Given the description of an element on the screen output the (x, y) to click on. 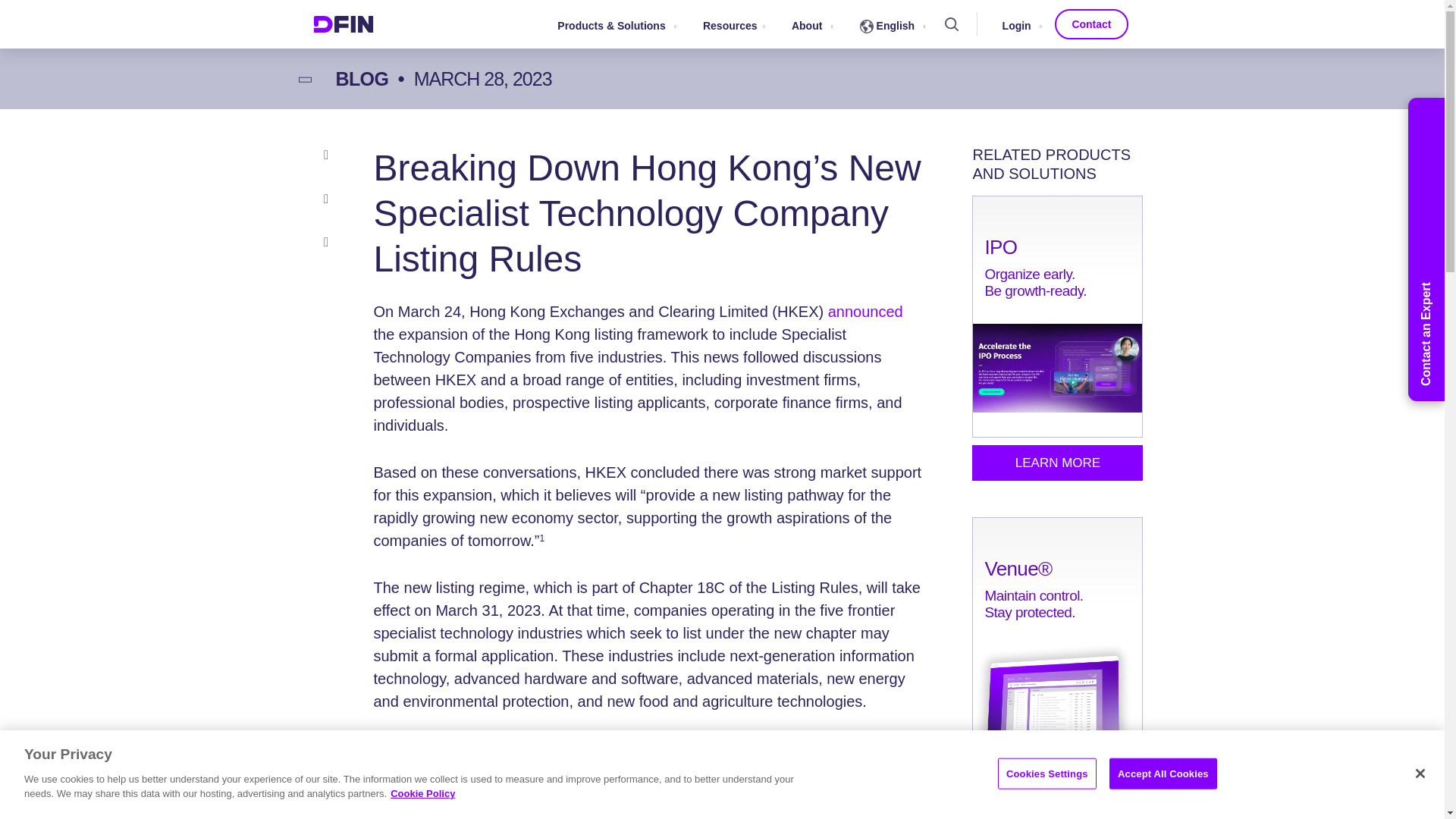
Learn More (1057, 462)
Home (342, 23)
Learn More (1057, 804)
Skip to main content (721, 1)
